Given the description of an element on the screen output the (x, y) to click on. 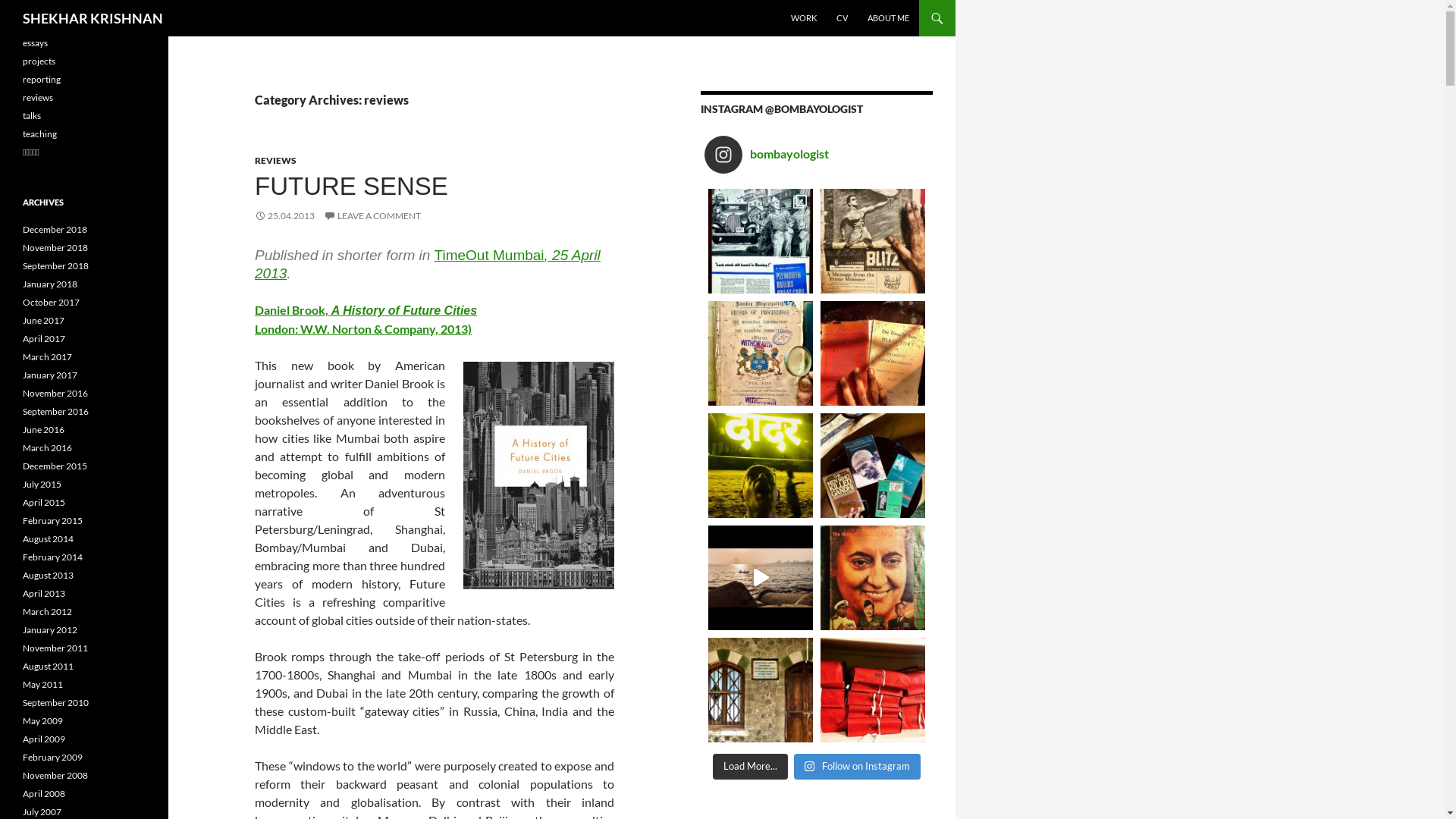
FUTURE SENSE Element type: text (351, 186)
January 2012 Element type: text (49, 629)
April 2015 Element type: text (43, 502)
LEAVE A COMMENT Element type: text (371, 215)
November 2011 Element type: text (54, 647)
April 2013 Element type: text (43, 593)
December 2018 Element type: text (54, 229)
TimeOut Mumbai Element type: text (489, 255)
essays Element type: text (34, 42)
March 2012 Element type: text (47, 611)
April 2017 Element type: text (43, 338)
April 2008 Element type: text (43, 793)
Load More... Element type: text (749, 766)
SHEKHAR KRISHNAN Element type: text (92, 18)
ABOUT ME Element type: text (888, 18)
April 2009 Element type: text (43, 738)
June 2017 Element type: text (43, 320)
February 2009 Element type: text (52, 756)
July 2007 Element type: text (41, 811)
September 2018 Element type: text (55, 265)
January 2018 Element type: text (49, 283)
projects Element type: text (38, 60)
teaching Element type: text (39, 133)
WORK Element type: text (803, 18)
February 2015 Element type: text (52, 520)
bombayologist Element type: text (820, 154)
May 2009 Element type: text (42, 720)
June 2016 Element type: text (43, 429)
November 2016 Element type: text (54, 392)
September 2016 Element type: text (55, 411)
November 2008 Element type: text (54, 775)
February 2014 Element type: text (52, 556)
25.04.2013 Element type: text (284, 215)
talks Element type: text (31, 115)
CV Element type: text (841, 18)
reporting Element type: text (41, 78)
Follow on Instagram Element type: text (856, 766)
December 2015 Element type: text (54, 465)
September 2010 Element type: text (55, 702)
, 25 April 2013 Element type: text (427, 264)
October 2017 Element type: text (50, 301)
August 2011 Element type: text (47, 665)
November 2018 Element type: text (54, 247)
March 2017 Element type: text (47, 356)
August 2013 Element type: text (47, 574)
July 2015 Element type: text (41, 483)
May 2011 Element type: text (42, 684)
January 2017 Element type: text (49, 374)
March 2016 Element type: text (47, 447)
August 2014 Element type: text (47, 538)
reviews Element type: text (37, 97)
REVIEWS Element type: text (275, 160)
